Given the description of an element on the screen output the (x, y) to click on. 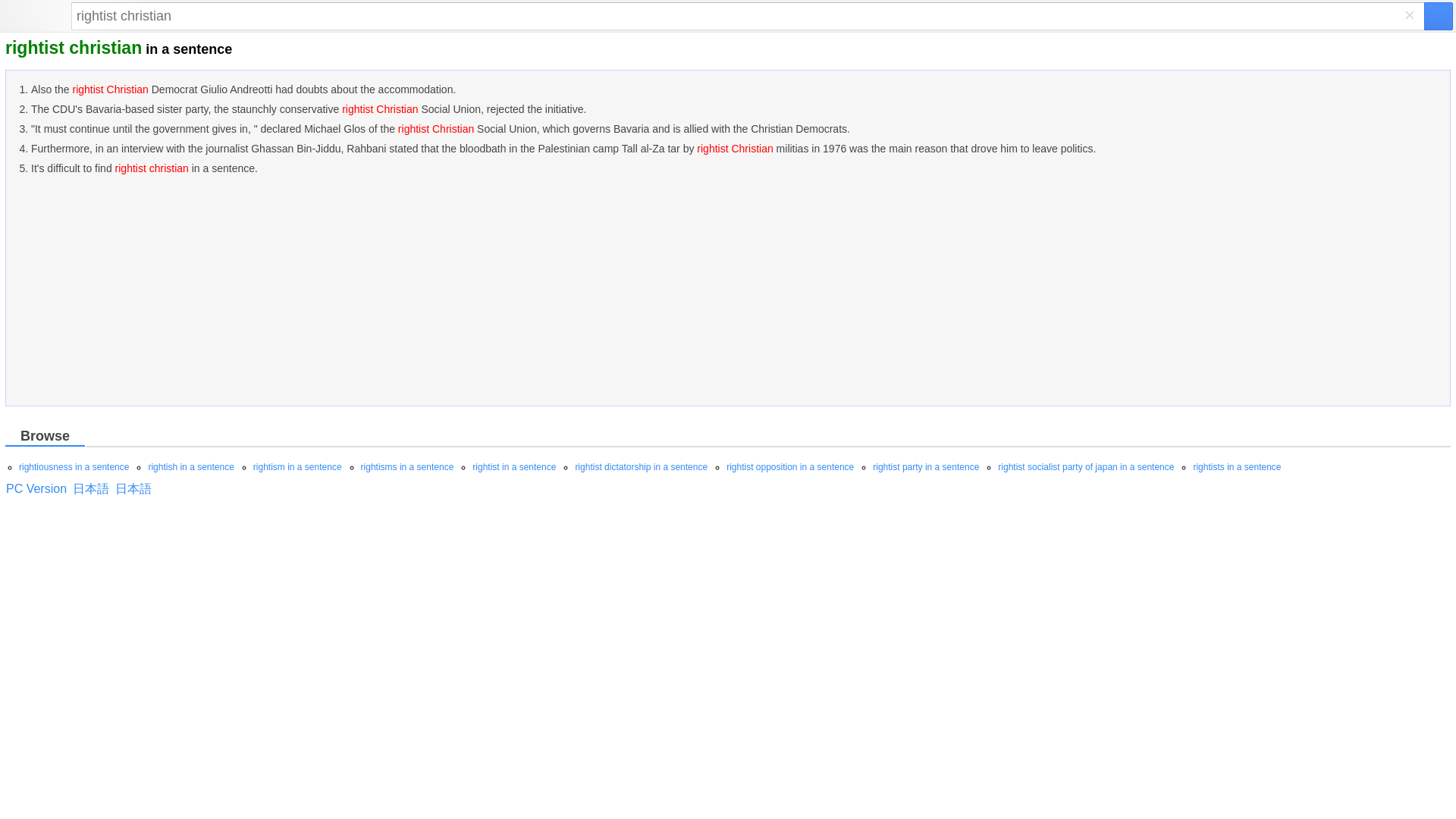
search (1438, 16)
PC Version (35, 488)
rightism in a sentence (297, 466)
rightist opposition in a sentence (789, 466)
Sentence dictionary (37, 16)
rightist dictatorship in a sentence (641, 466)
Search (747, 16)
rightists in a sentence (1236, 466)
rightist in a sentence (513, 466)
rightist socialist party of japan in a sentence (1085, 466)
